Given the description of an element on the screen output the (x, y) to click on. 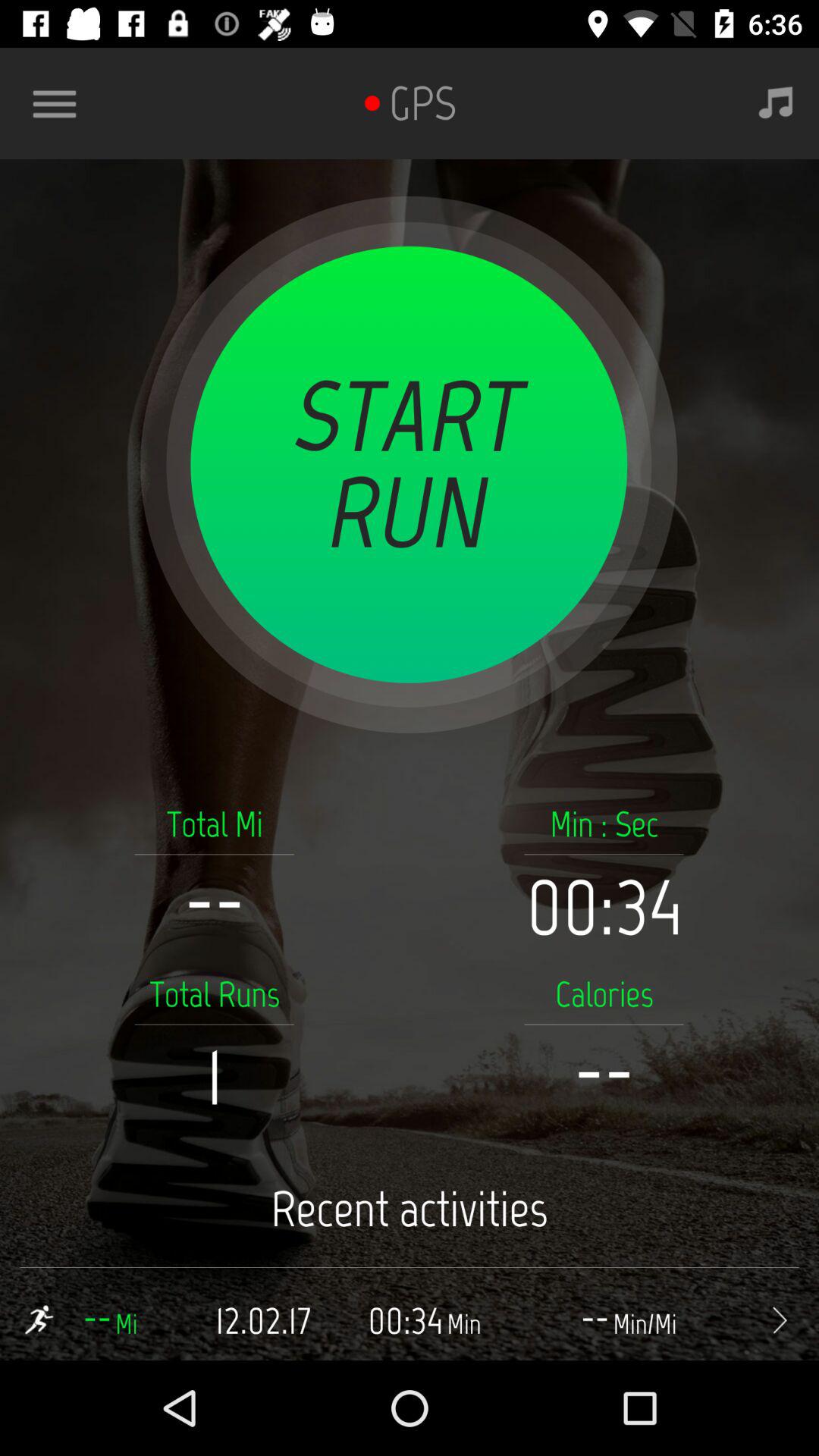
open music (776, 103)
